Given the description of an element on the screen output the (x, y) to click on. 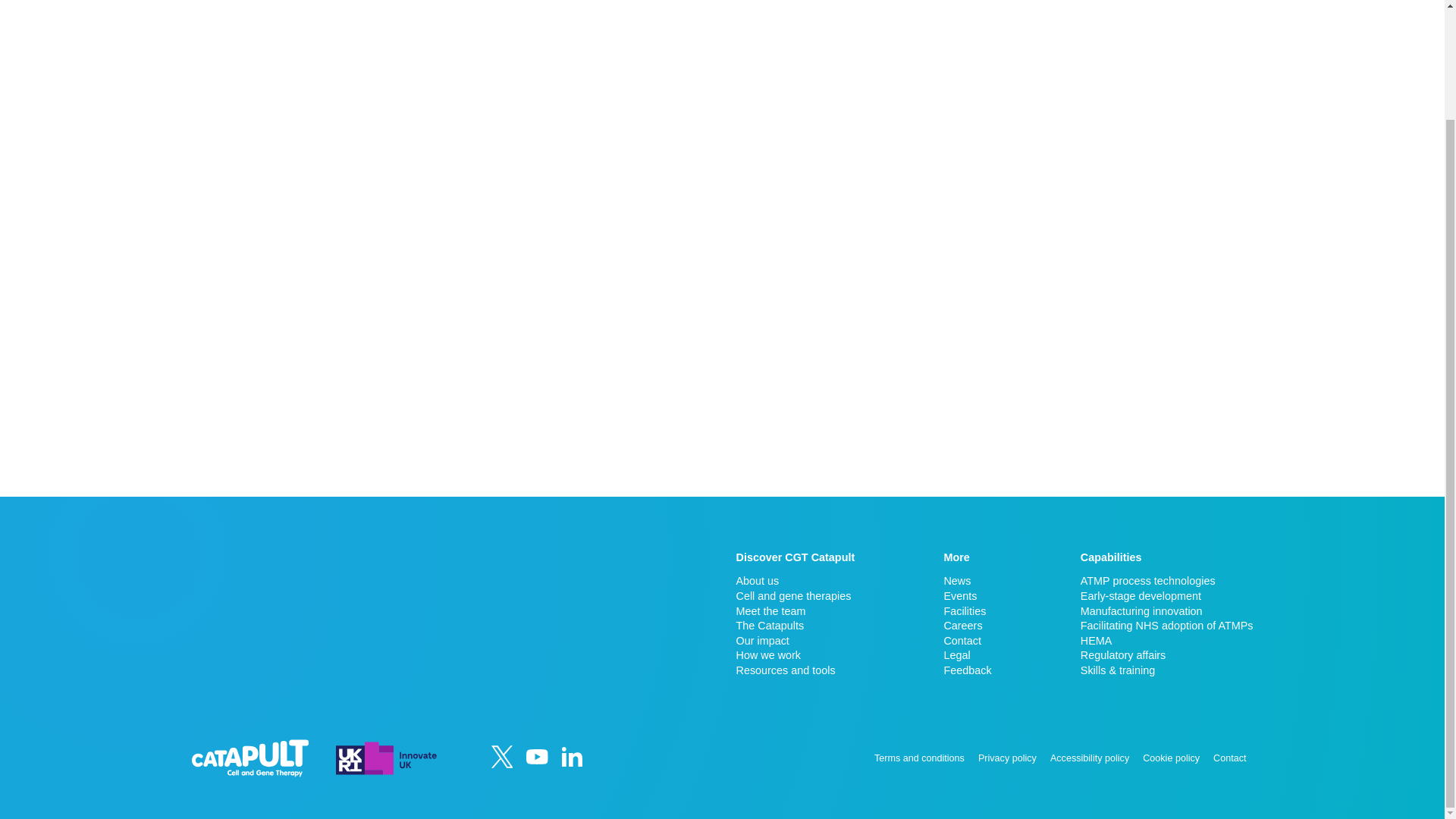
Cell and gene therapies (794, 595)
About us (794, 581)
The Catapults (794, 625)
Privacy policy (1007, 758)
Events (967, 595)
Careers (967, 625)
Terms and conditions (919, 758)
Accessibility policy (1089, 758)
Facilities (967, 611)
Contact (967, 640)
Manufacturing innovation (1166, 611)
News (967, 581)
Legal (967, 655)
iframe (358, 608)
Early-stage development (1166, 595)
